Given the description of an element on the screen output the (x, y) to click on. 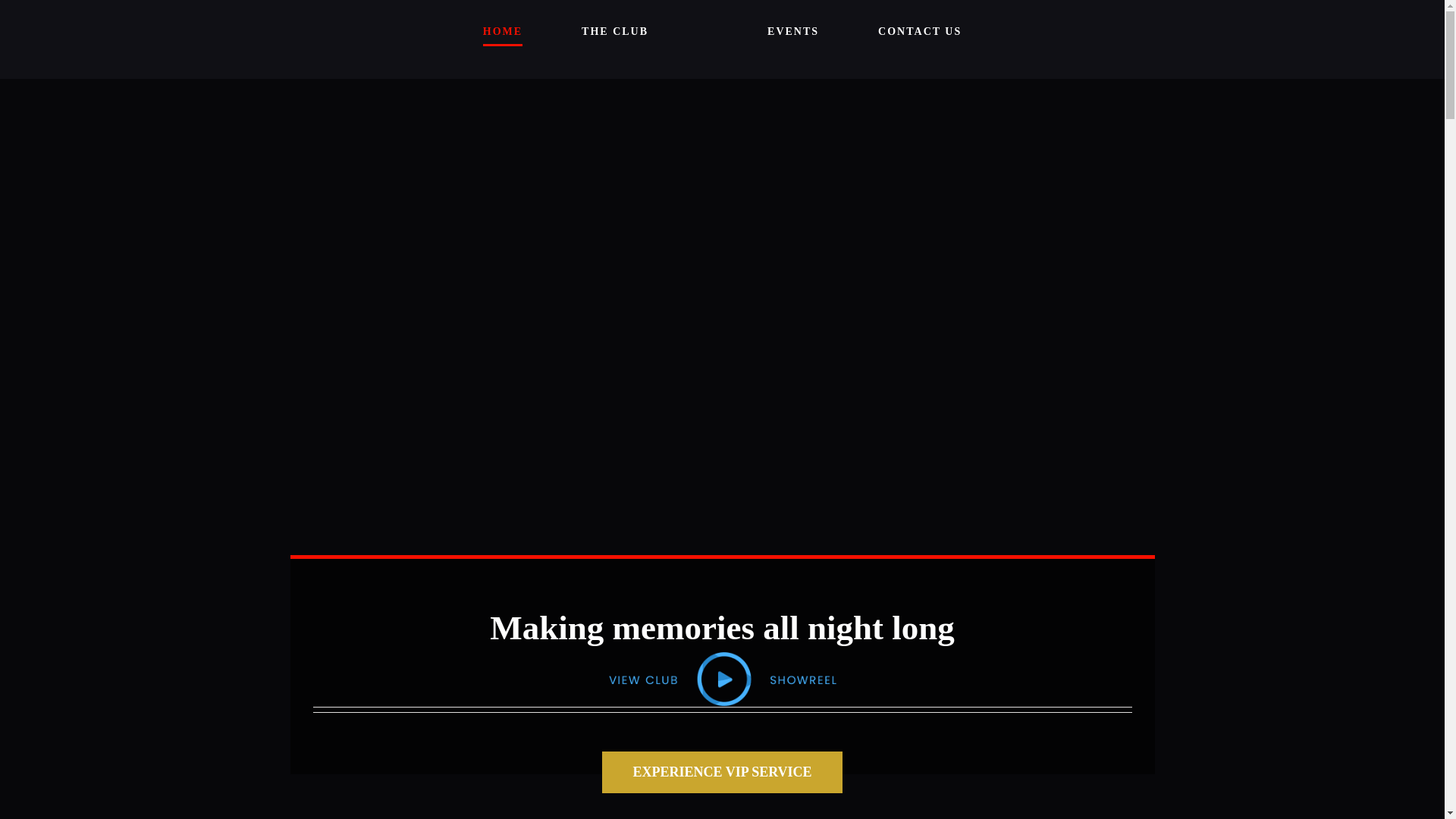
EXPERIENCE VIP SERVICE (721, 772)
CONTACT US (918, 31)
Become A VIP (721, 772)
THE CLUB (613, 31)
